Given the description of an element on the screen output the (x, y) to click on. 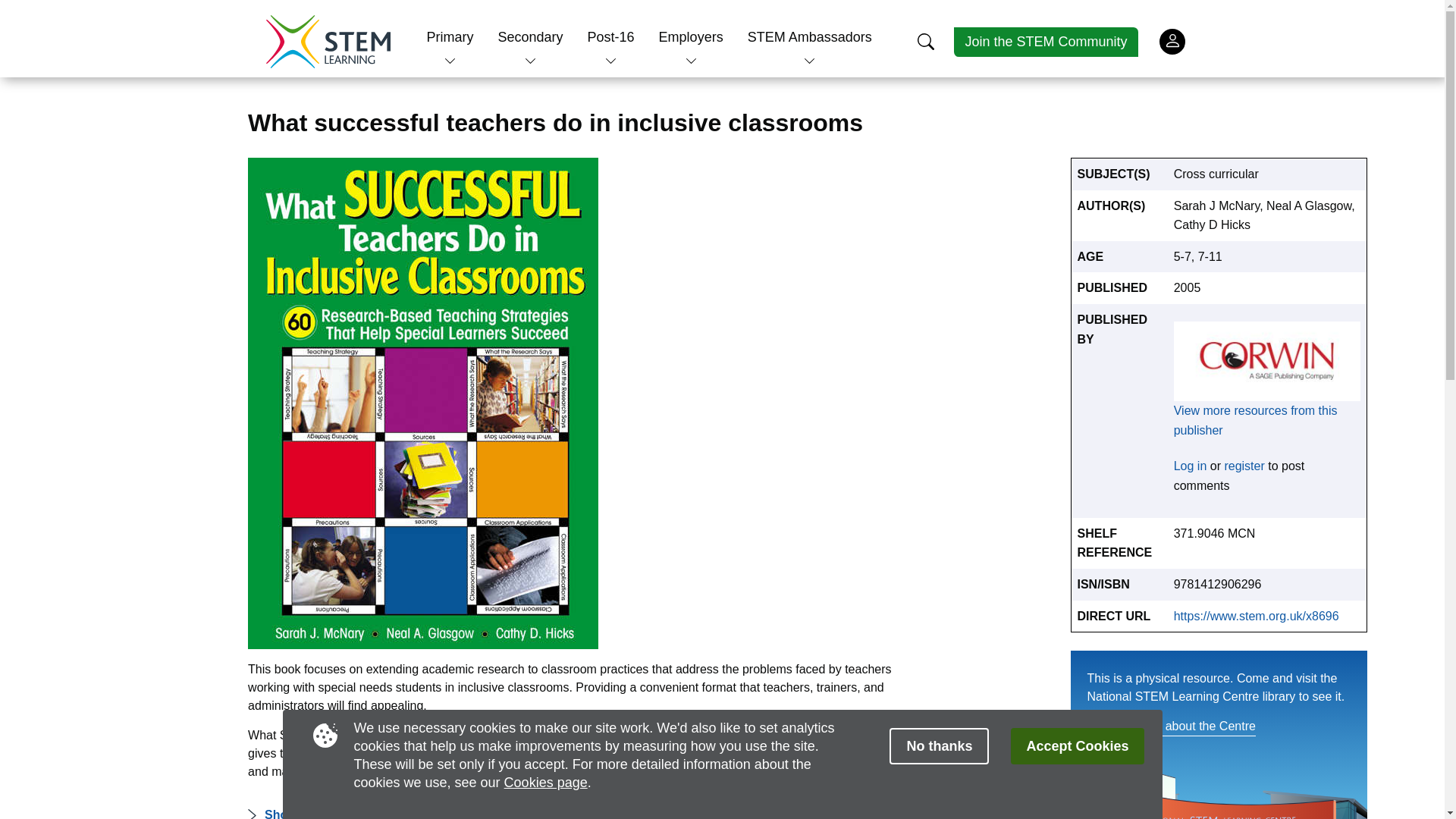
Home (327, 40)
Post-16 (611, 37)
Secondary (529, 37)
STEM Ambassadors (810, 37)
Employers (691, 37)
Primary (449, 37)
